Given the description of an element on the screen output the (x, y) to click on. 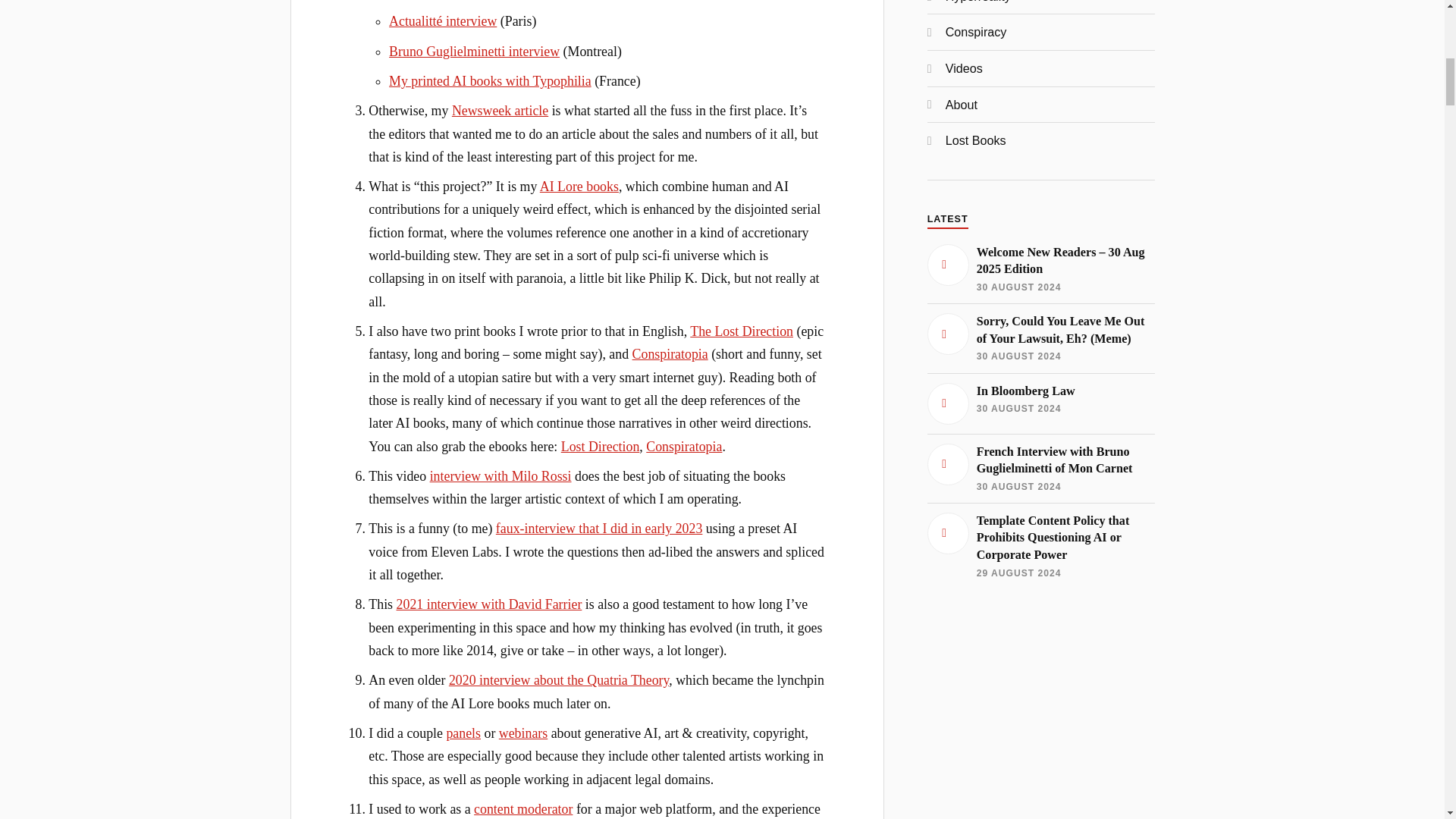
Lost Direction (600, 446)
2021 interview with David Farrier (489, 604)
Newsweek article (499, 110)
webinars (523, 733)
The Lost Direction (741, 331)
interview with Milo Rossi (500, 476)
content moderator (523, 808)
faux-interview that I did in early 2023 (599, 528)
Bruno Guglielminetti interview (473, 51)
2020 interview about the Quatria Theory (558, 679)
